Given the description of an element on the screen output the (x, y) to click on. 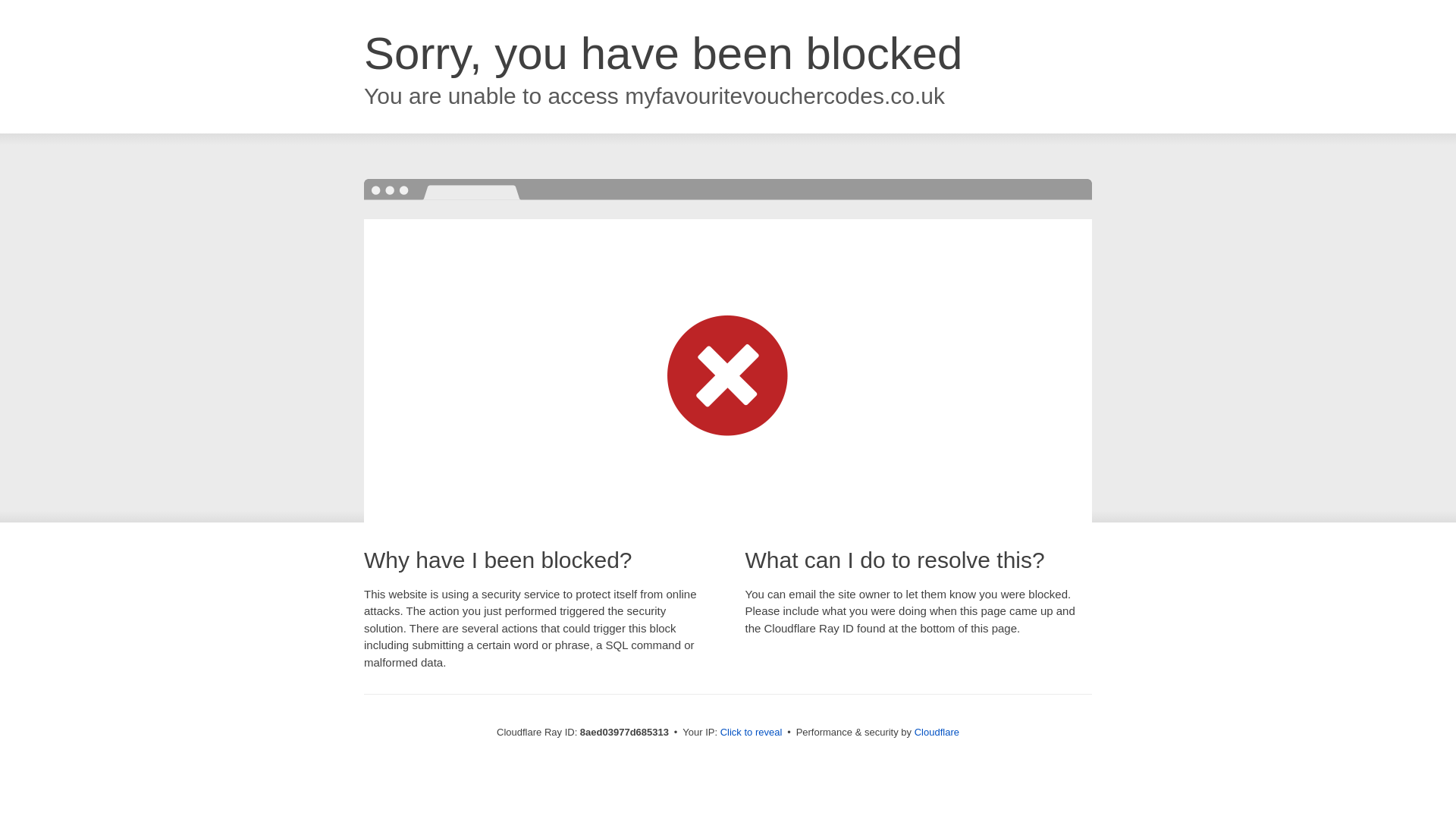
Cloudflare (936, 731)
Click to reveal (751, 732)
